Given the description of an element on the screen output the (x, y) to click on. 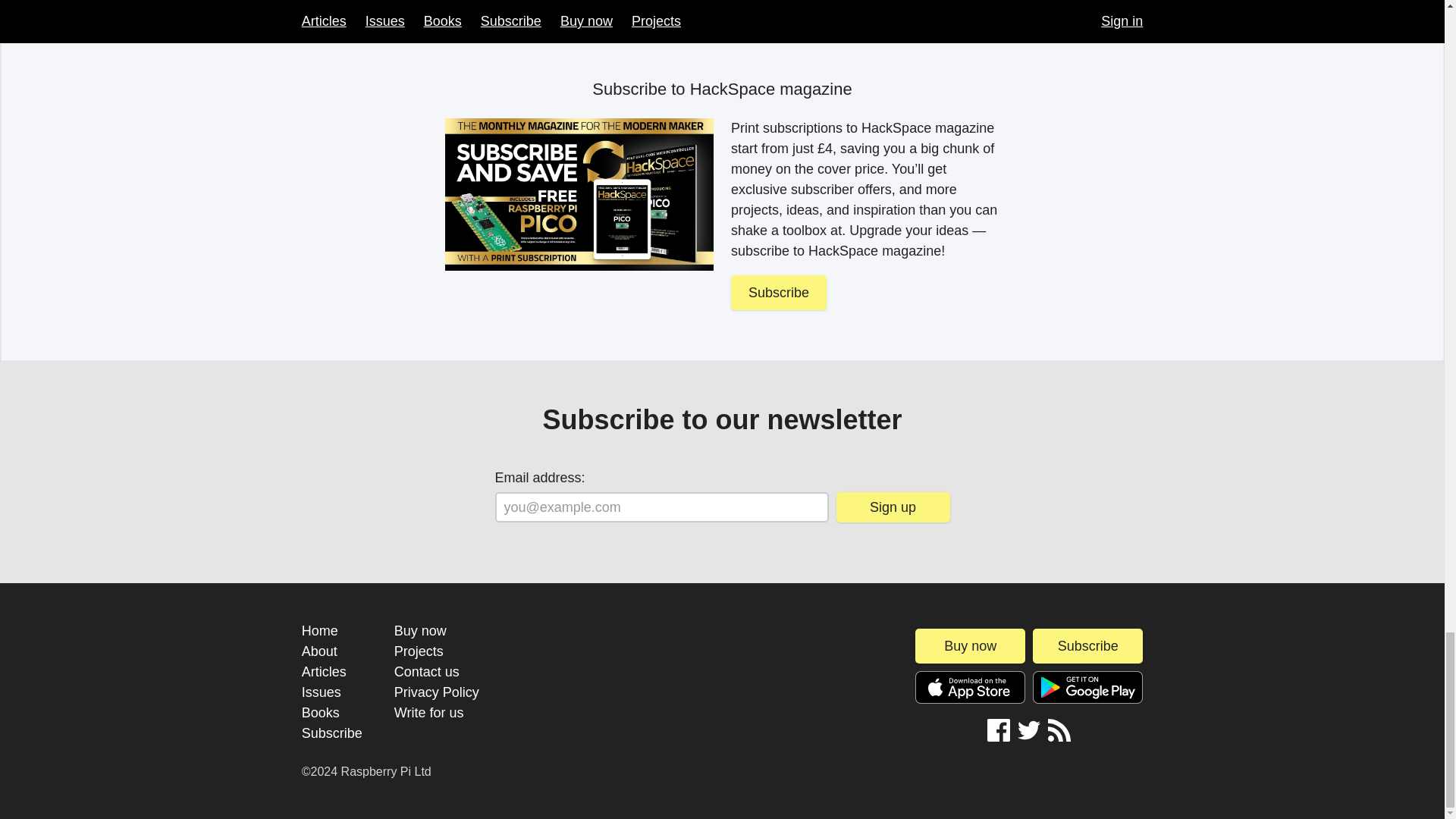
Sign up (892, 507)
Home (319, 630)
About (319, 651)
Projects (419, 651)
Articles (323, 671)
Buy now (420, 630)
Subscribe (778, 292)
Subscribe (331, 733)
Issues (320, 692)
Books (320, 712)
